Given the description of an element on the screen output the (x, y) to click on. 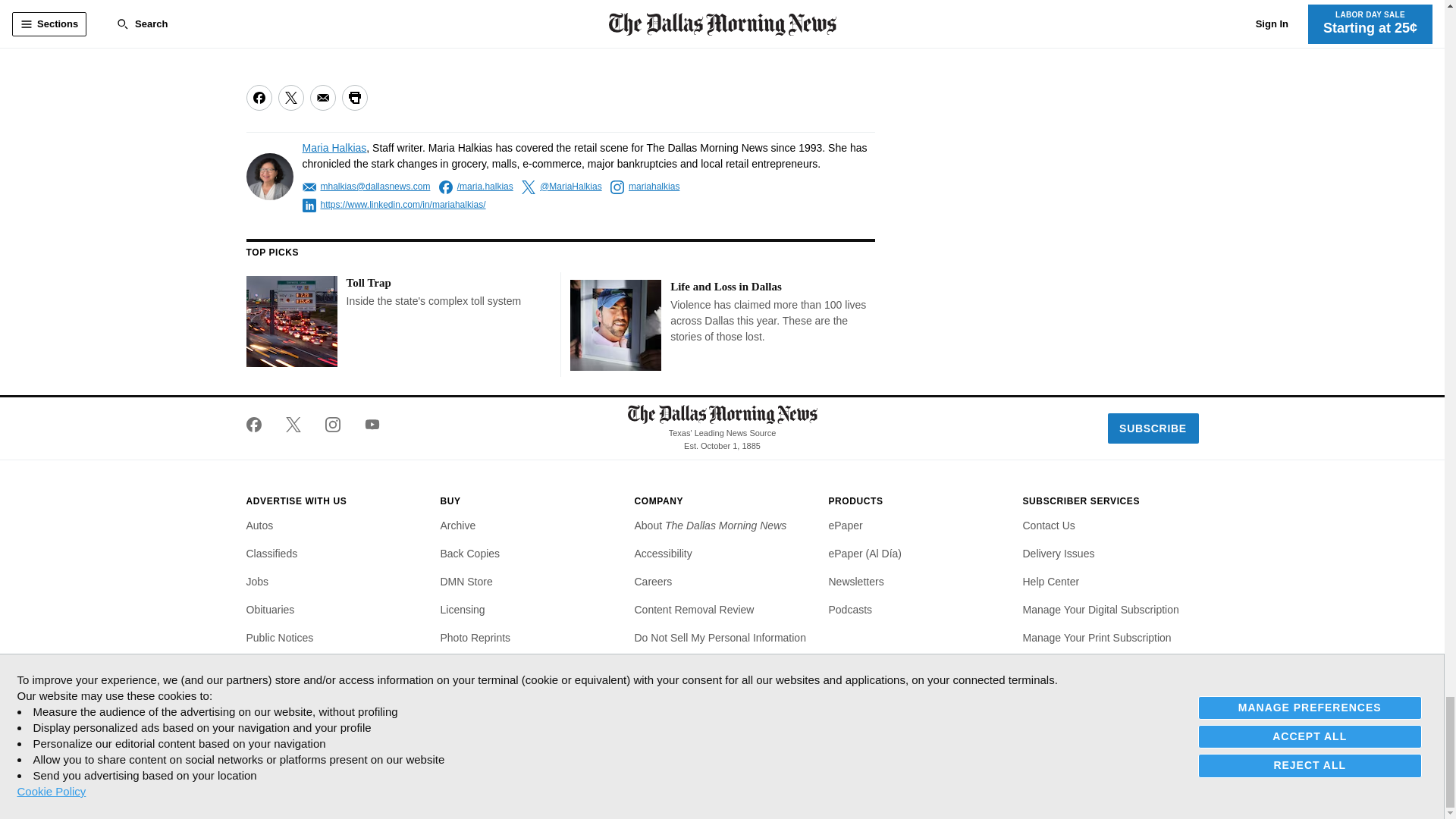
Share via Email (321, 97)
The Dallas Morning News on Facebook (259, 424)
Share on Twitter (290, 97)
The Dallas Morning News on Twitter (293, 424)
Share on Facebook (258, 97)
The Dallas Morning News on Instagram (332, 424)
Print (353, 97)
